Given the description of an element on the screen output the (x, y) to click on. 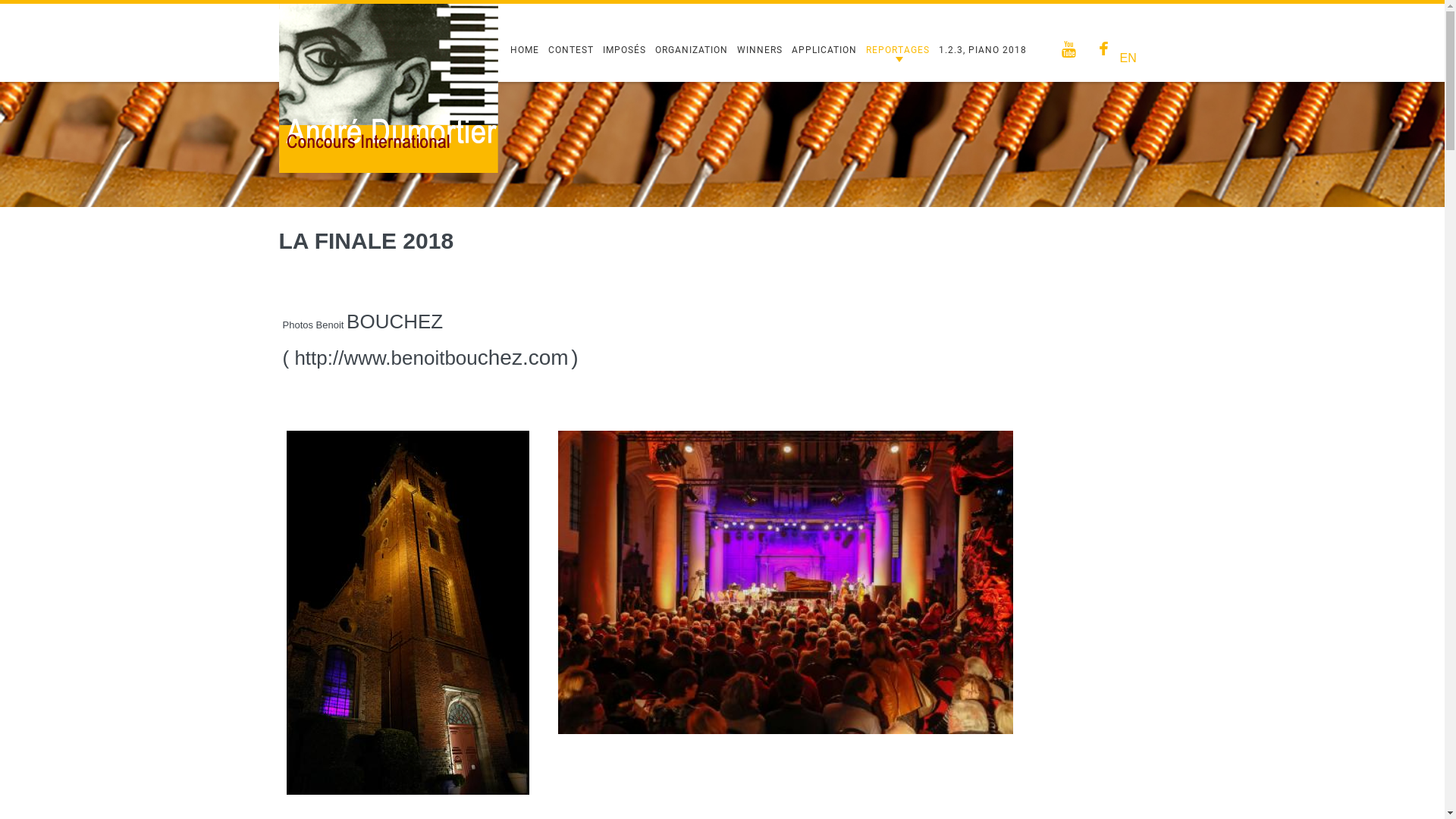
APPLICATION Element type: text (824, 49)
Skip to main content Element type: text (43, 3)
Home Element type: hover (388, 10)
  Element type: text (1070, 49)
Skip to navigation Element type: text (37, 3)
1.2.3, PIANO 2018 Element type: text (982, 49)
http://www.benoitbou Element type: text (385, 357)
CONTEST Element type: text (569, 49)
ORGANIZATION Element type: text (691, 49)
  Element type: text (1104, 49)
REPORTAGES Element type: text (897, 49)
WINNERS Element type: text (759, 49)
HOME Element type: text (523, 49)
